Given the description of an element on the screen output the (x, y) to click on. 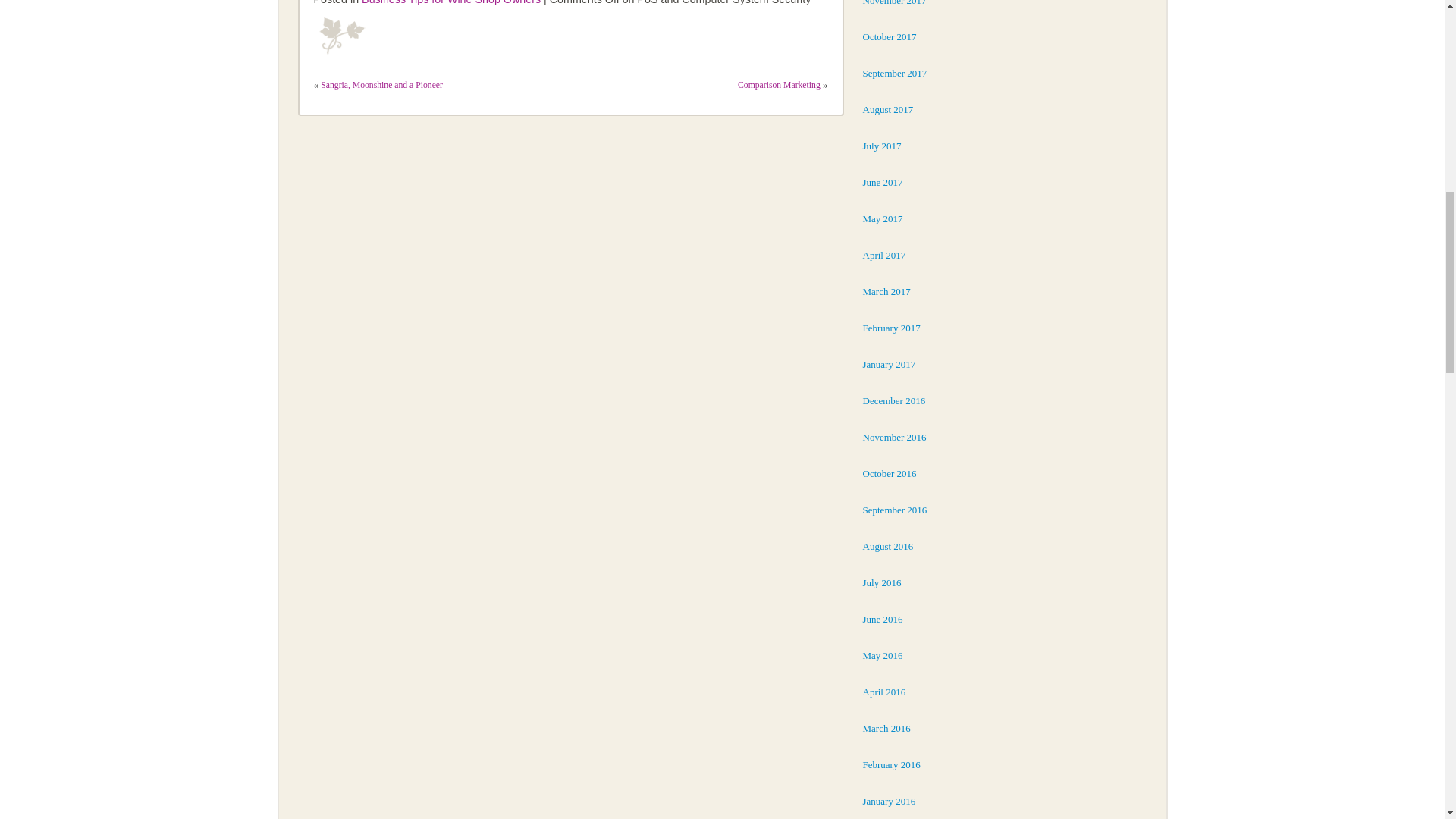
May 2016 (882, 655)
November 2016 (894, 437)
June 2016 (882, 618)
July 2017 (882, 145)
October 2016 (890, 473)
April 2017 (884, 255)
Comparison Marketing (779, 81)
August 2016 (888, 546)
Sangria, Moonshine and a Pioneer (381, 81)
April 2016 (884, 691)
October 2017 (890, 36)
November 2017 (894, 2)
September 2016 (895, 509)
January 2017 (889, 364)
May 2017 (882, 218)
